Given the description of an element on the screen output the (x, y) to click on. 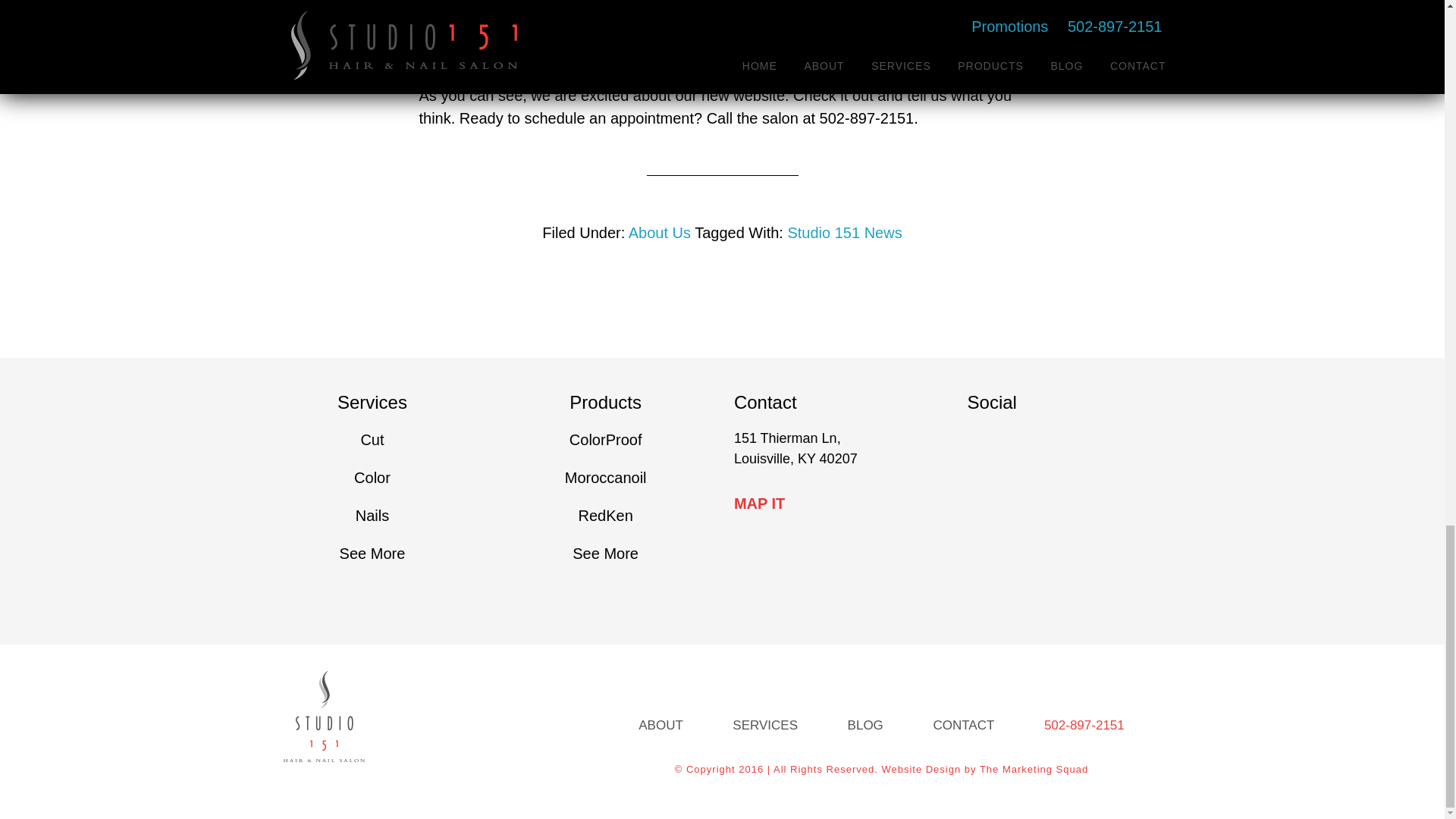
MAP IT (758, 503)
Studio 151 News (844, 232)
CONTACT (963, 725)
See More (372, 553)
BLOG (865, 725)
The Marketing Squad (1033, 768)
502-897-2151 (1084, 725)
ABOUT (660, 725)
About Us (659, 232)
blog (633, 27)
SERVICES (765, 725)
See More (605, 553)
